Given the description of an element on the screen output the (x, y) to click on. 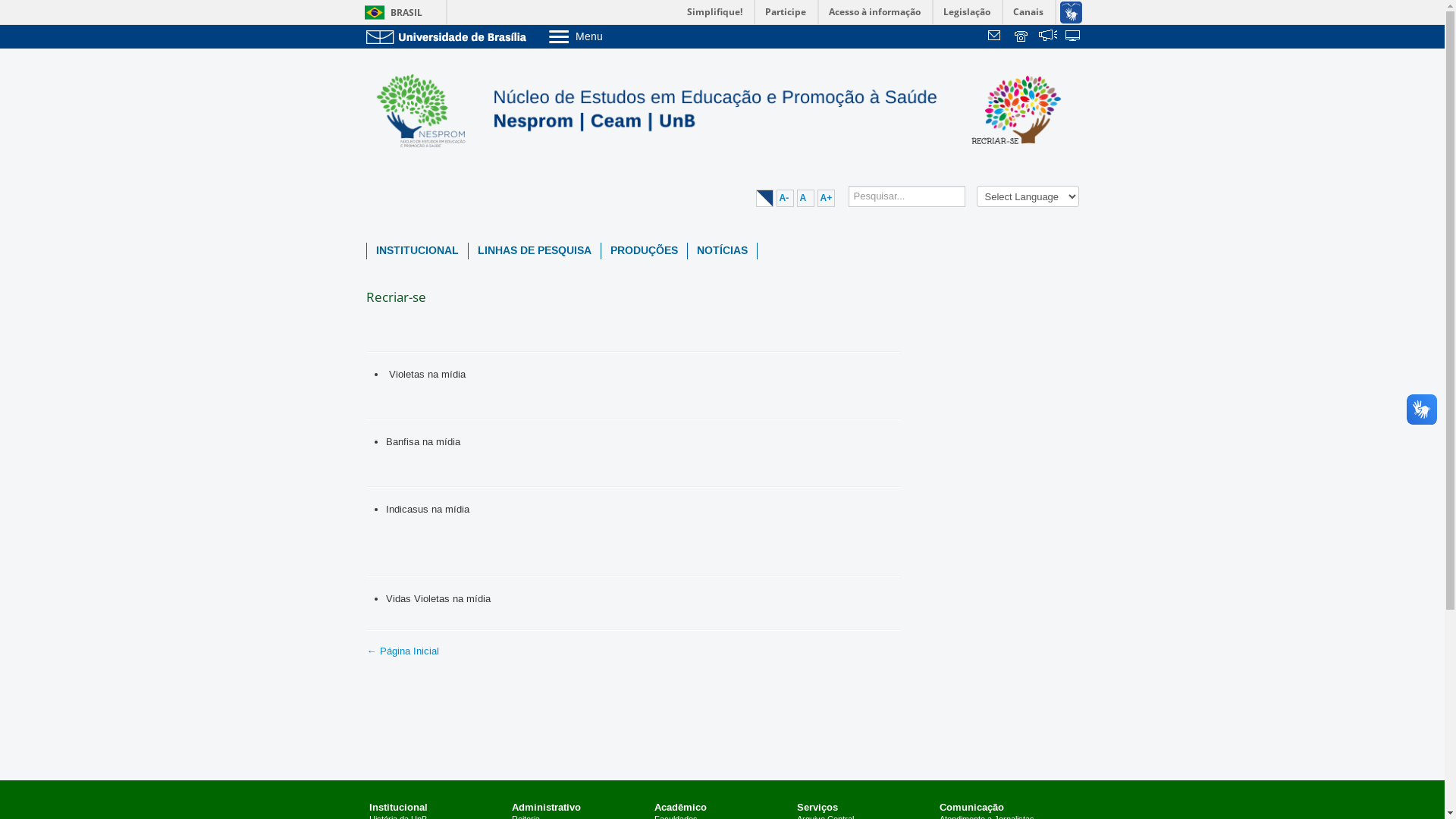
Menu Element type: text (613, 35)
  Element type: text (1022, 37)
  Element type: text (996, 37)
LINHAS DE PESQUISA Element type: text (534, 250)
Sistemas Element type: hover (1073, 37)
A+ Element type: text (825, 198)
Telefones da UnB Element type: hover (1022, 37)
BRASIL Element type: text (389, 12)
Ir para o Portal da UnB Element type: hover (448, 36)
A- Element type: text (784, 198)
  Element type: text (1047, 37)
INSTITUCIONAL Element type: text (417, 250)
Webmail Element type: hover (996, 37)
  Element type: text (1073, 37)
A Element type: text (804, 198)
Fala.BR Element type: hover (1047, 37)
